Given the description of an element on the screen output the (x, y) to click on. 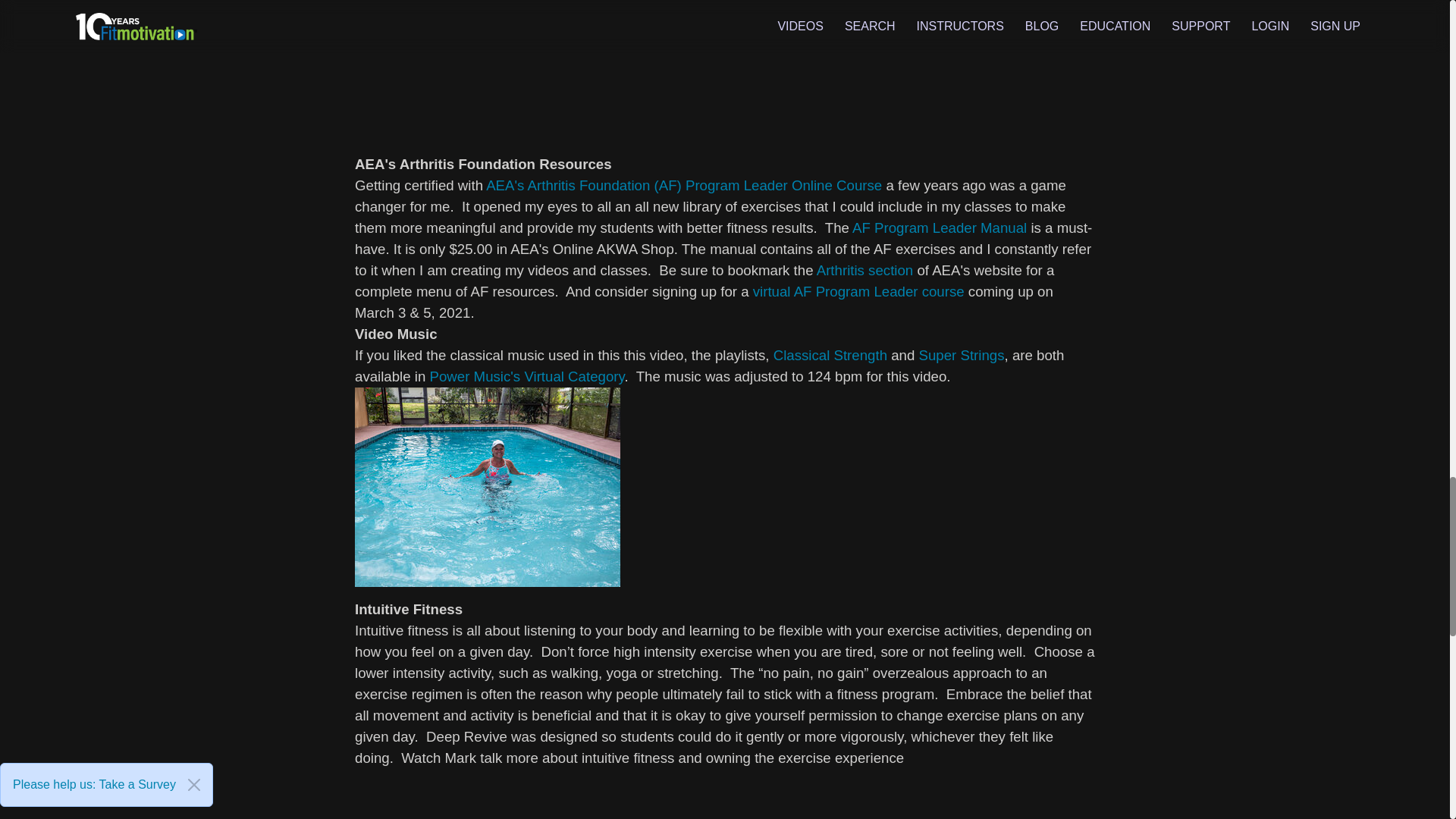
Power Music's Virtual Category (526, 376)
Super Strings (961, 355)
virtual AF Program Leader course (857, 291)
AF Program Leader Manual (938, 227)
Arthritis section (865, 270)
Classical Strength (829, 355)
